Given the description of an element on the screen output the (x, y) to click on. 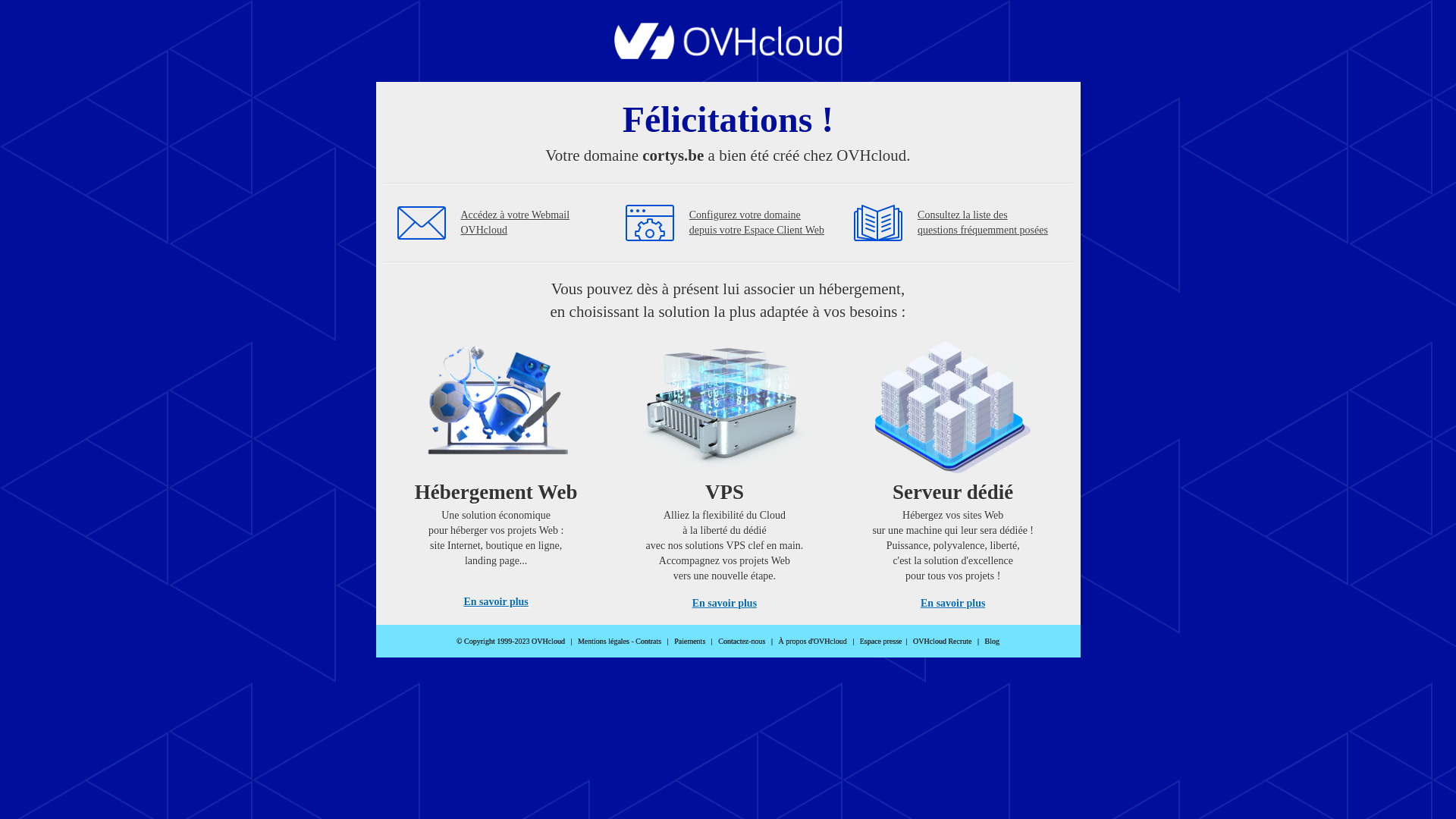
Configurez votre domaine
depuis votre Espace Client Web Element type: text (756, 222)
Contactez-nous Element type: text (741, 641)
Espace presse Element type: text (880, 641)
Blog Element type: text (992, 641)
OVHcloud Element type: hover (727, 54)
En savoir plus Element type: text (952, 602)
VPS Element type: hover (724, 469)
OVHcloud Recrute Element type: text (942, 641)
Paiements Element type: text (689, 641)
En savoir plus Element type: text (724, 602)
En savoir plus Element type: text (495, 601)
